Given the description of an element on the screen output the (x, y) to click on. 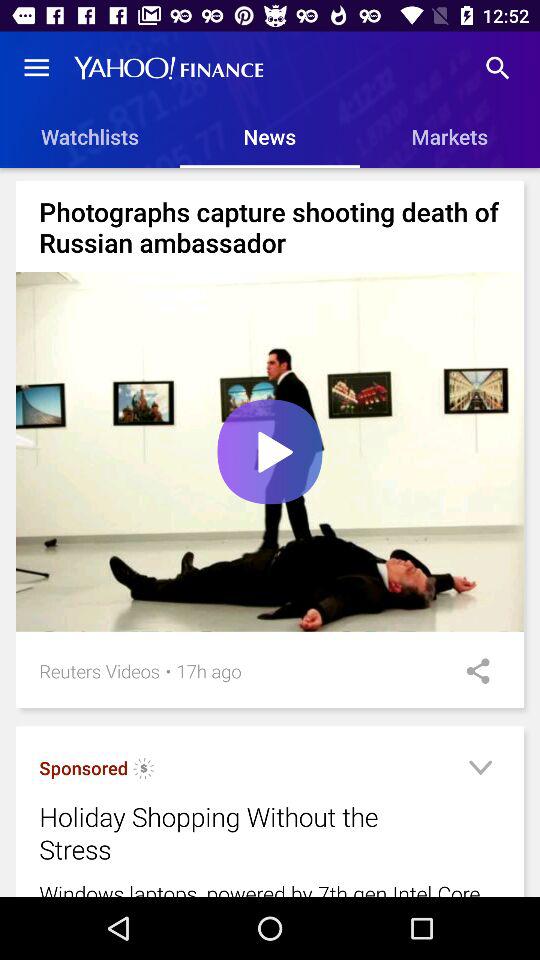
press the item below the watchlists item (273, 179)
